Given the description of an element on the screen output the (x, y) to click on. 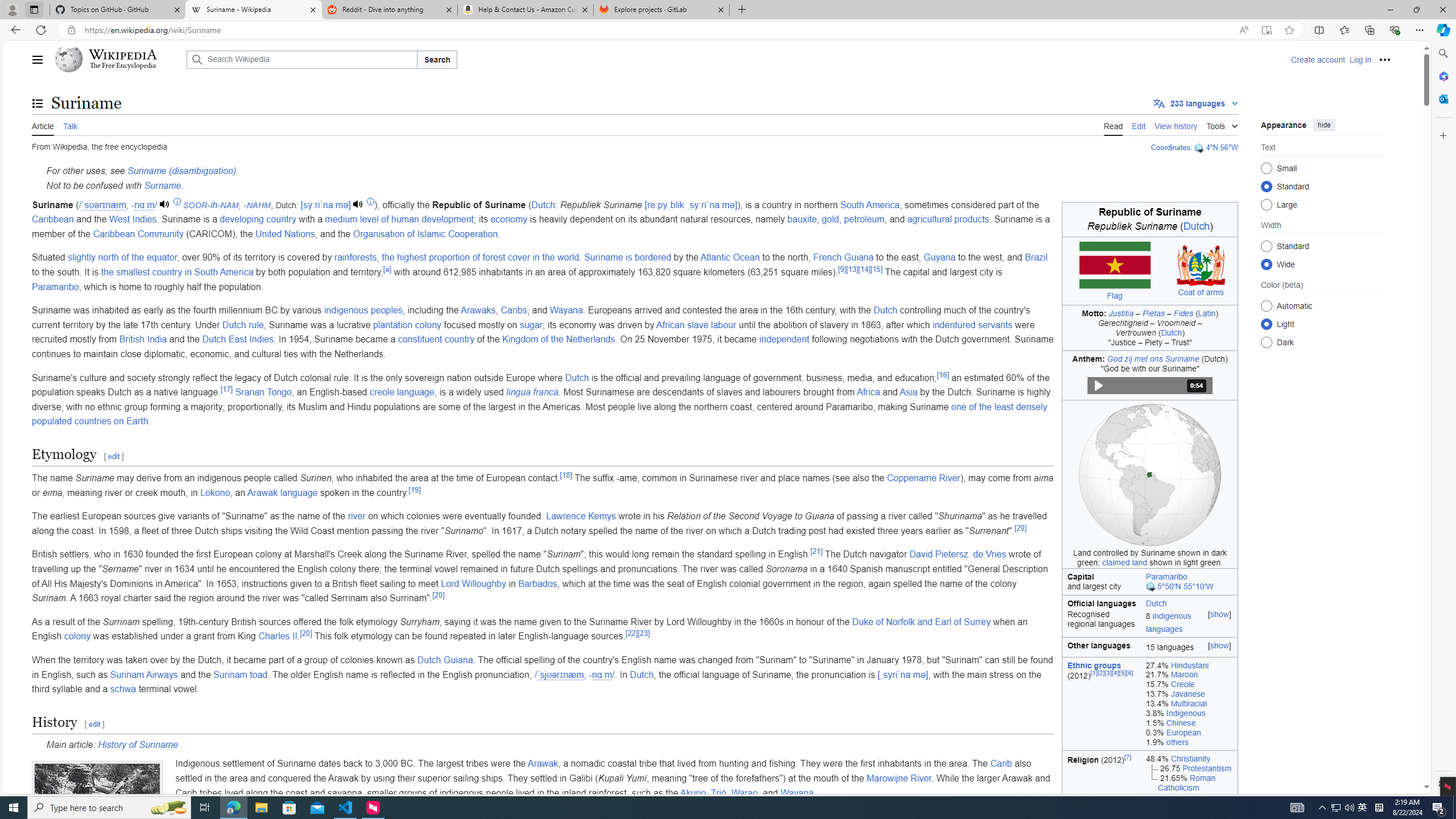
British India (143, 339)
[21] (815, 551)
plantation colony (407, 324)
Read (1112, 124)
Create account (1317, 58)
Kingdom of the Netherlands (558, 339)
[7] (1127, 756)
Wikipedia The Free Encyclopedia (117, 59)
Talk (69, 124)
[show] 8 indigenous languages (1189, 623)
Light (1266, 323)
Justitia (1121, 312)
[9] (841, 268)
